Given the description of an element on the screen output the (x, y) to click on. 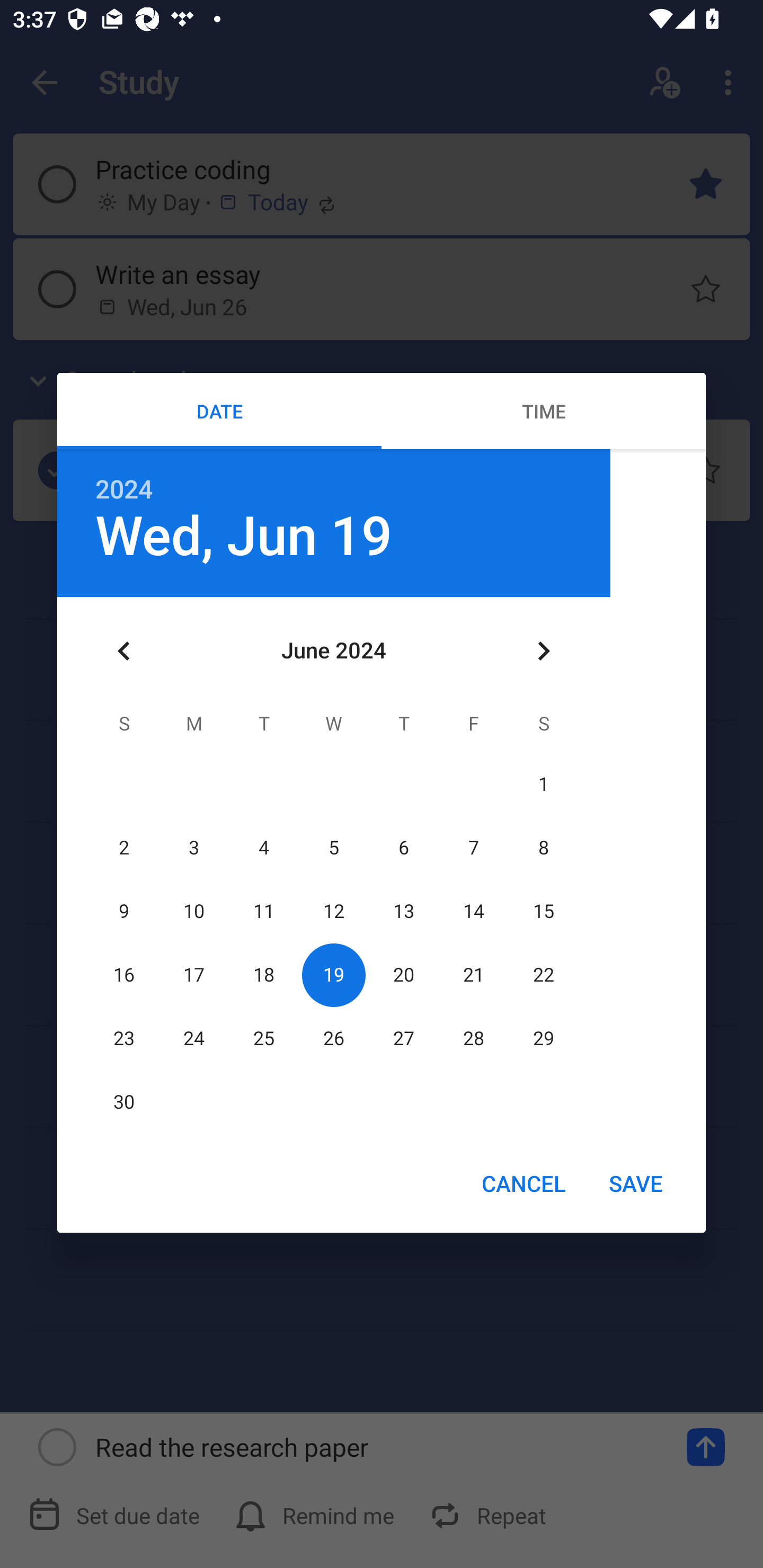
20 20 June 2024 (403, 974)
